Given the description of an element on the screen output the (x, y) to click on. 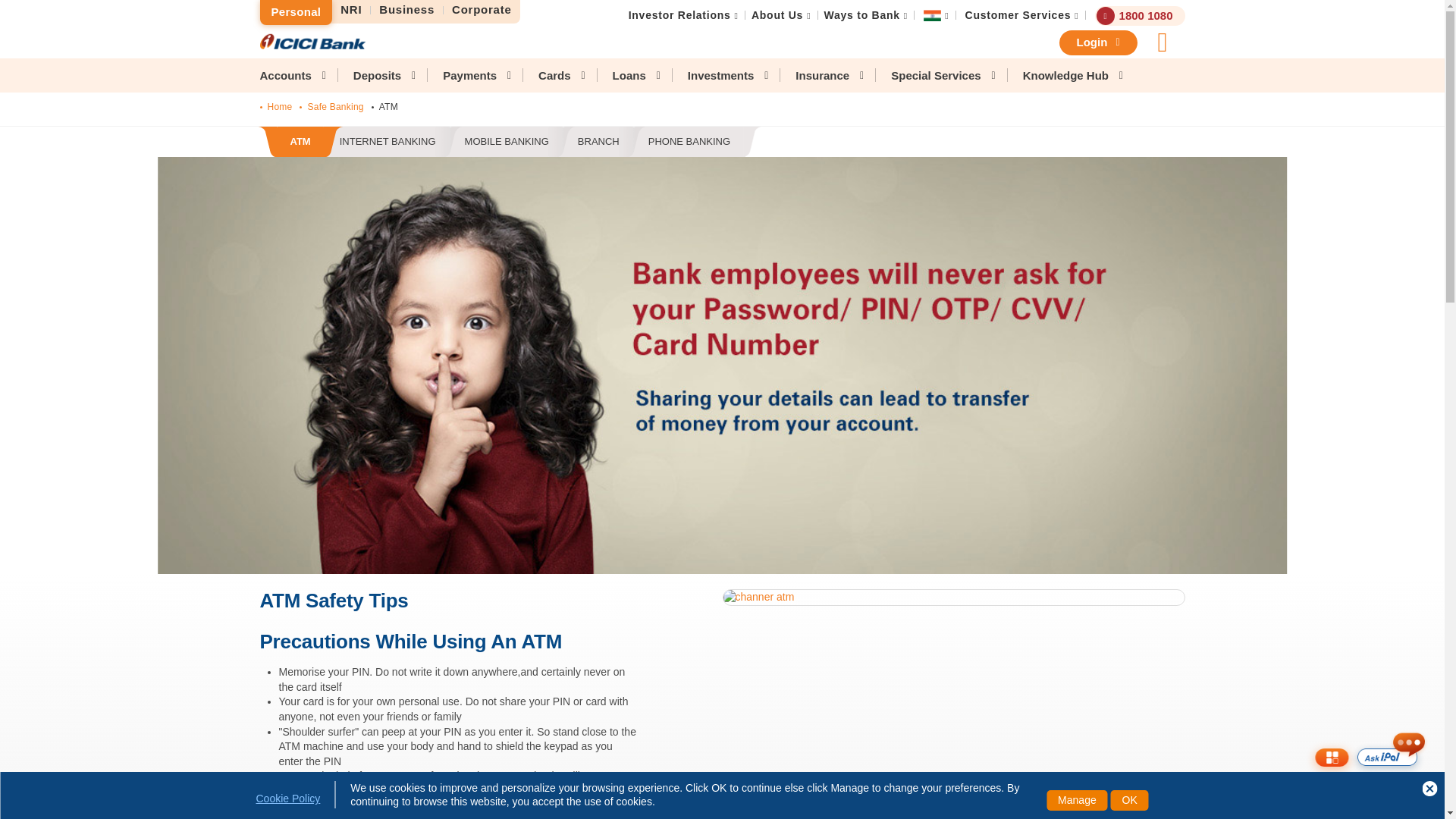
Ways to Bank (509, 142)
Business (861, 15)
Customer Services (407, 9)
Corporate (1018, 15)
Investor Relations (481, 9)
NRI (679, 15)
Personal (351, 9)
About Us (295, 12)
